Given the description of an element on the screen output the (x, y) to click on. 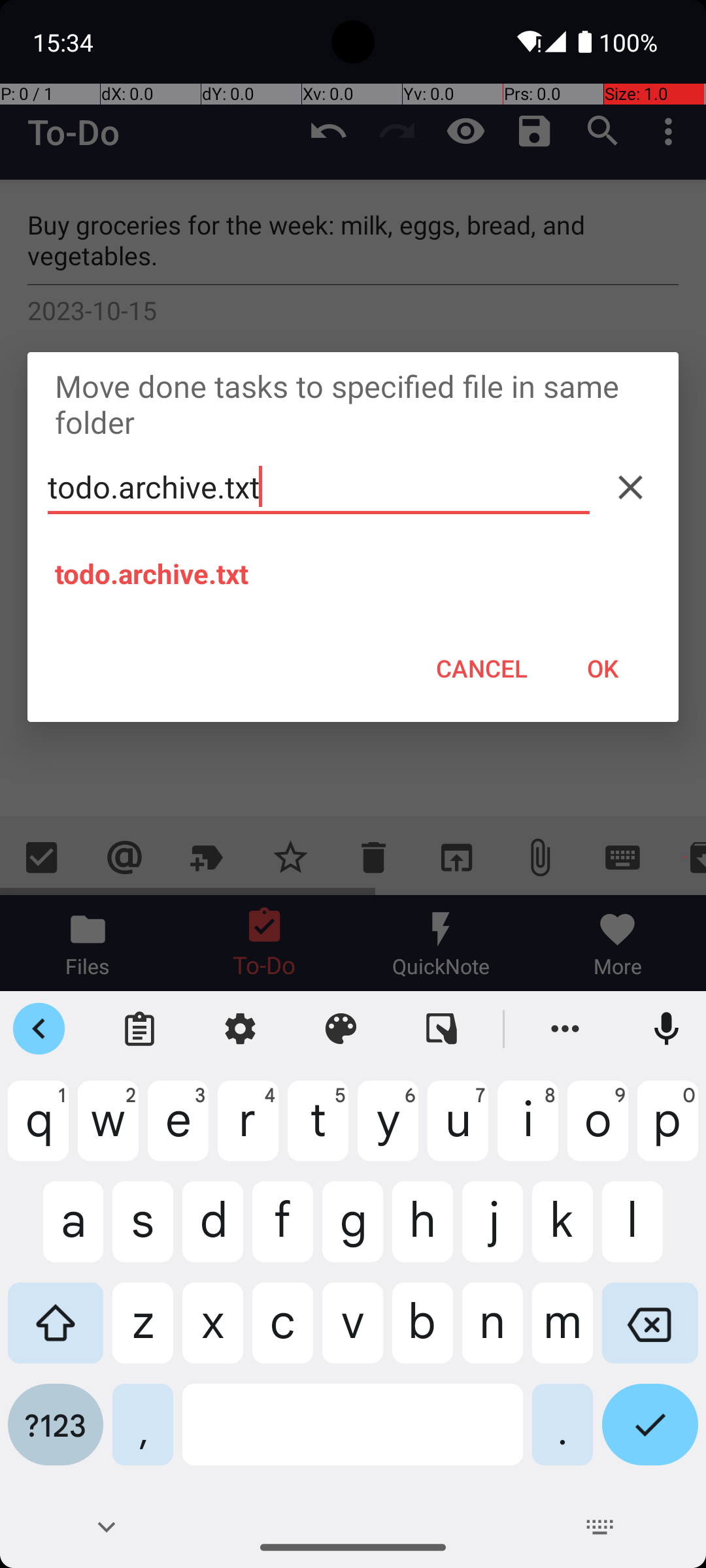
Move done tasks to specified file in same folder Element type: android.widget.TextView (352, 403)
todo.archive.txt Element type: android.widget.EditText (318, 486)
